Given the description of an element on the screen output the (x, y) to click on. 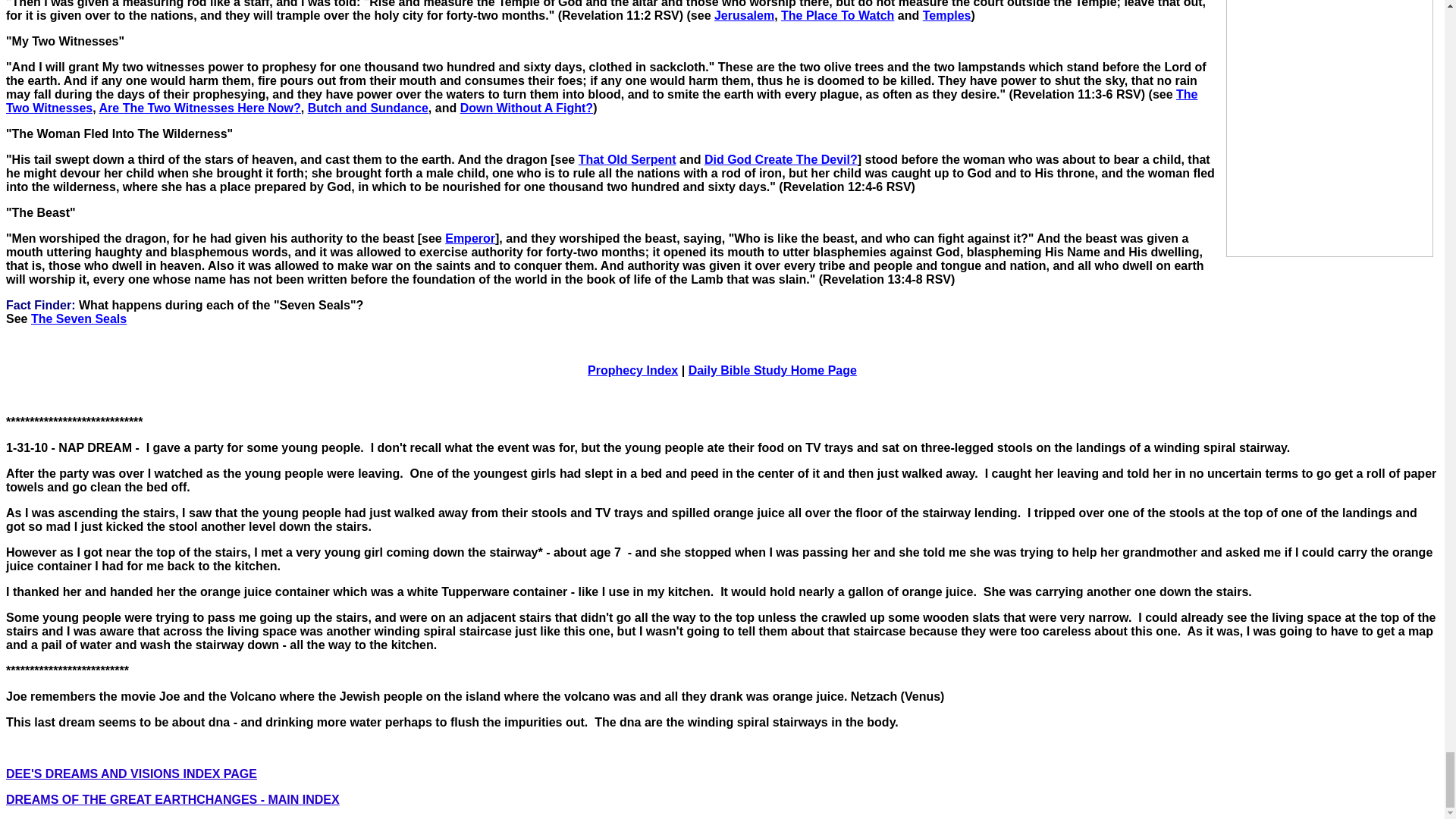
Temples (947, 15)
The Place To Watch (836, 15)
Jerusalem (744, 15)
